Given the description of an element on the screen output the (x, y) to click on. 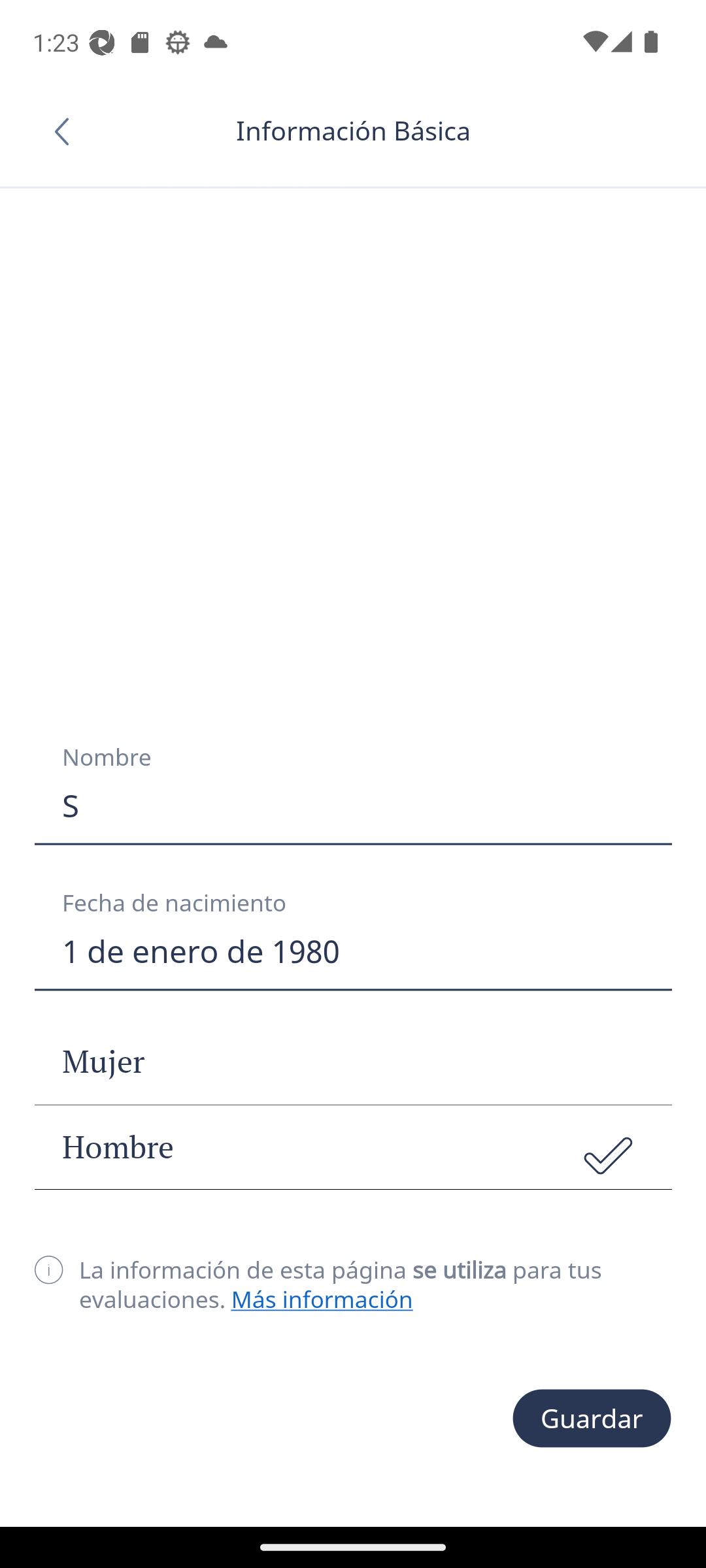
Go back, Navigates to the previous screen (68, 131)
S (353, 805)
1 de enero de 1980 (353, 951)
Mujer (353, 1062)
Hombre  (353, 1146)
Guardar (591, 1418)
